Given the description of an element on the screen output the (x, y) to click on. 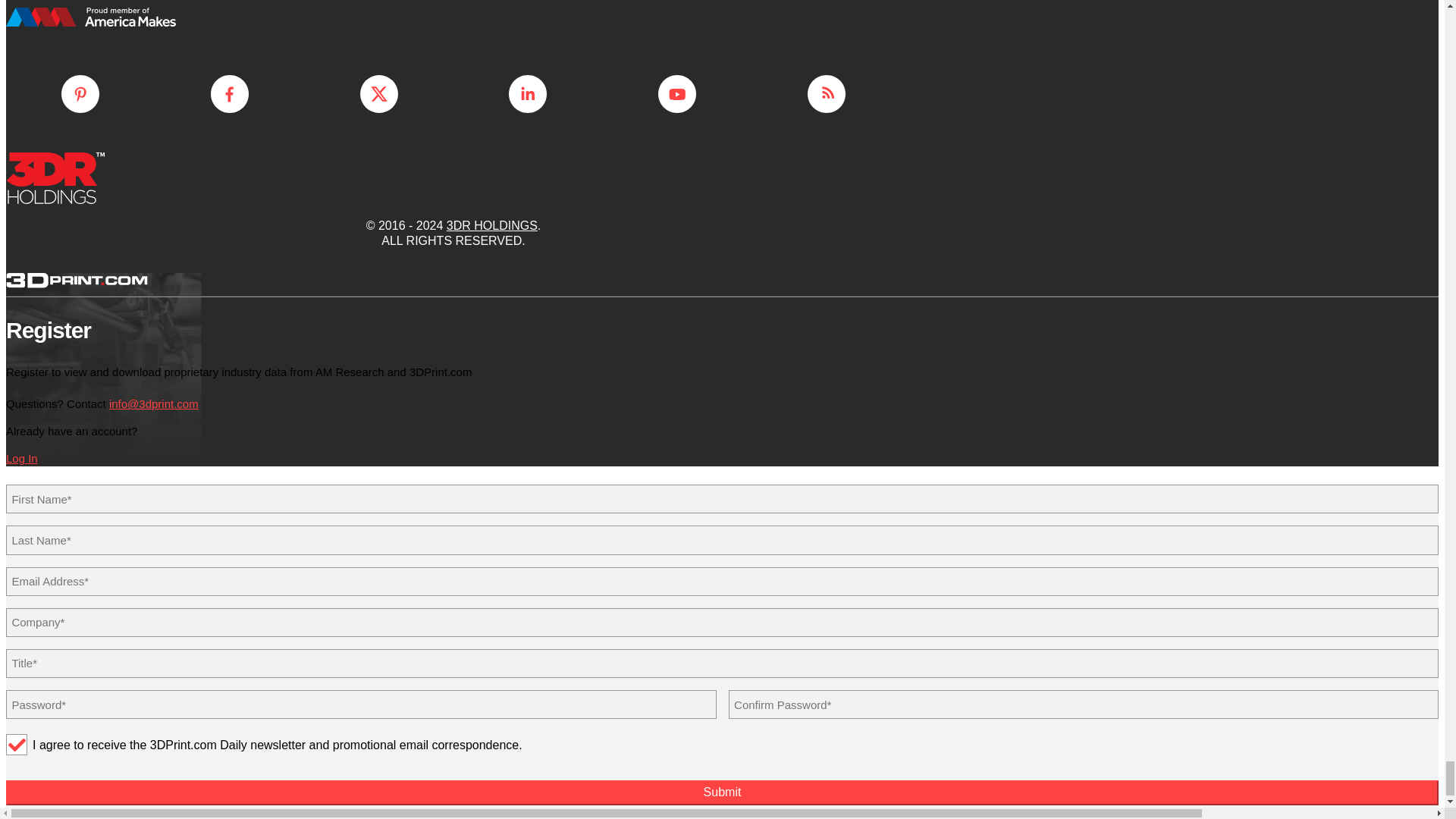
Submit (721, 792)
